Given the description of an element on the screen output the (x, y) to click on. 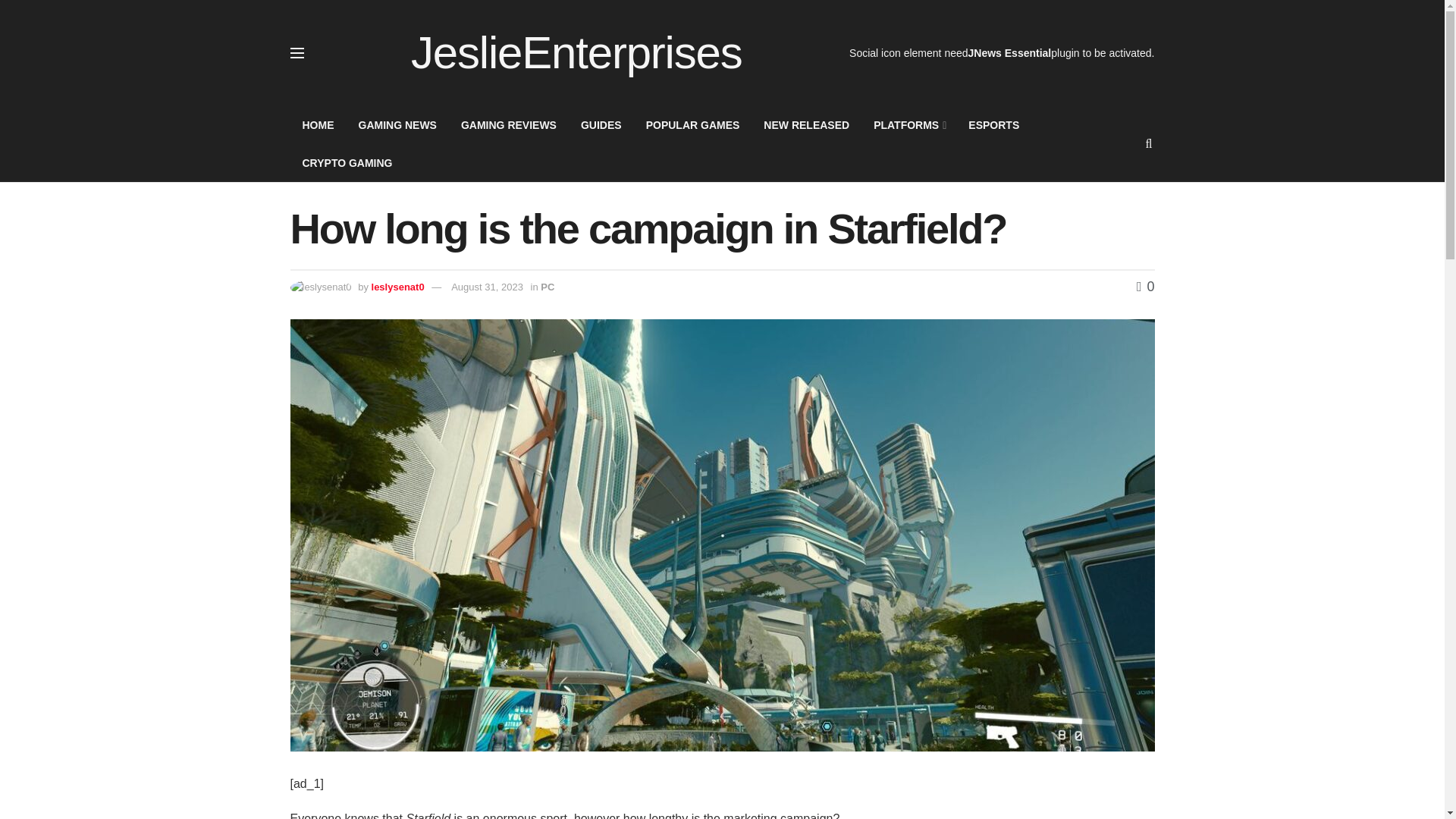
JeslieEnterprises (575, 53)
GAMING NEWS (397, 125)
GUIDES (601, 125)
CRYPTO GAMING (346, 162)
HOME (317, 125)
NEW RELEASED (806, 125)
PLATFORMS (908, 125)
PC (547, 286)
leslysenat0 (398, 286)
POPULAR GAMES (692, 125)
ESPORTS (993, 125)
0 (1145, 286)
GAMING REVIEWS (508, 125)
August 31, 2023 (486, 286)
